Given the description of an element on the screen output the (x, y) to click on. 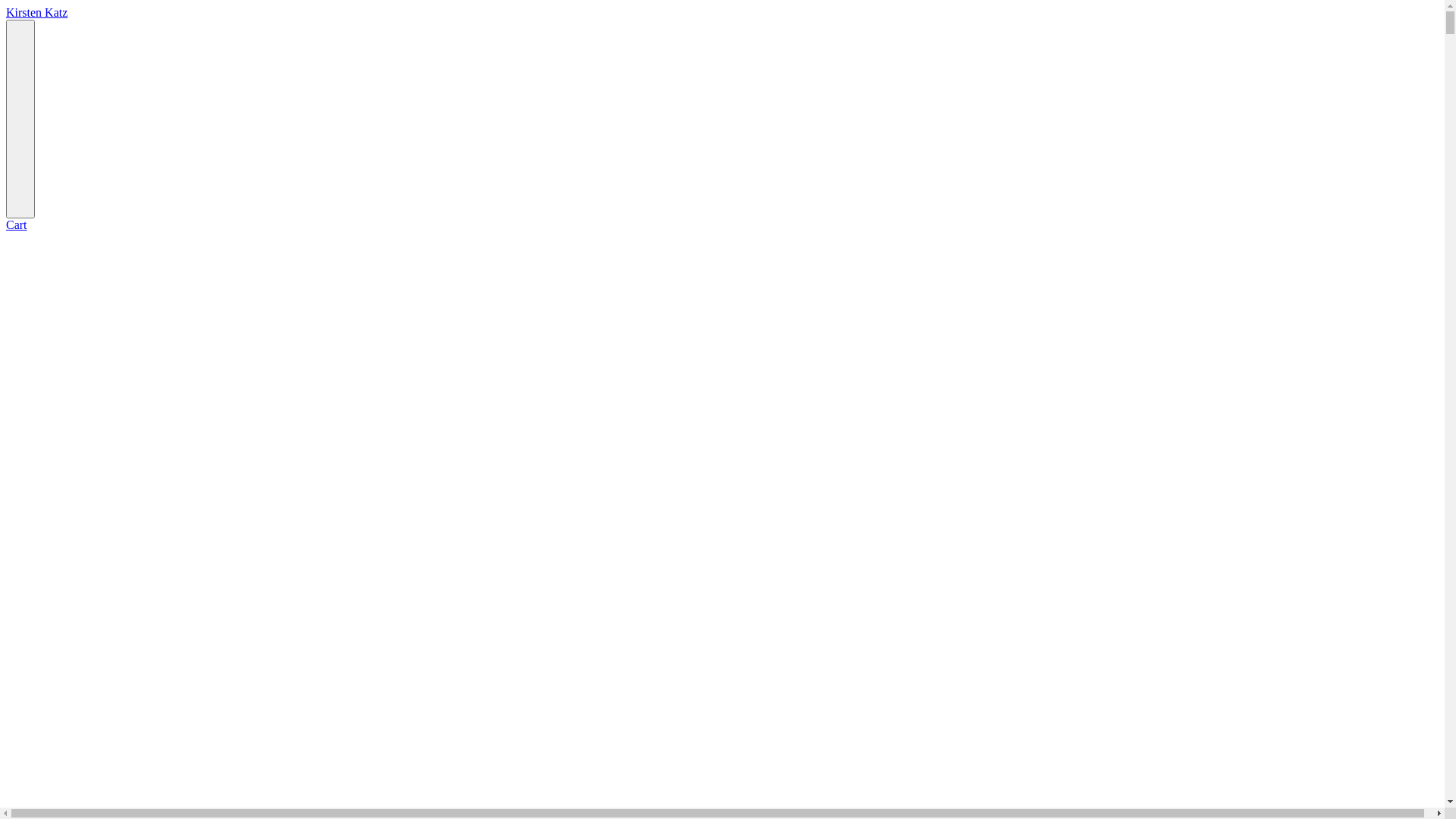
Kirsten Katz Element type: text (36, 12)
